Given the description of an element on the screen output the (x, y) to click on. 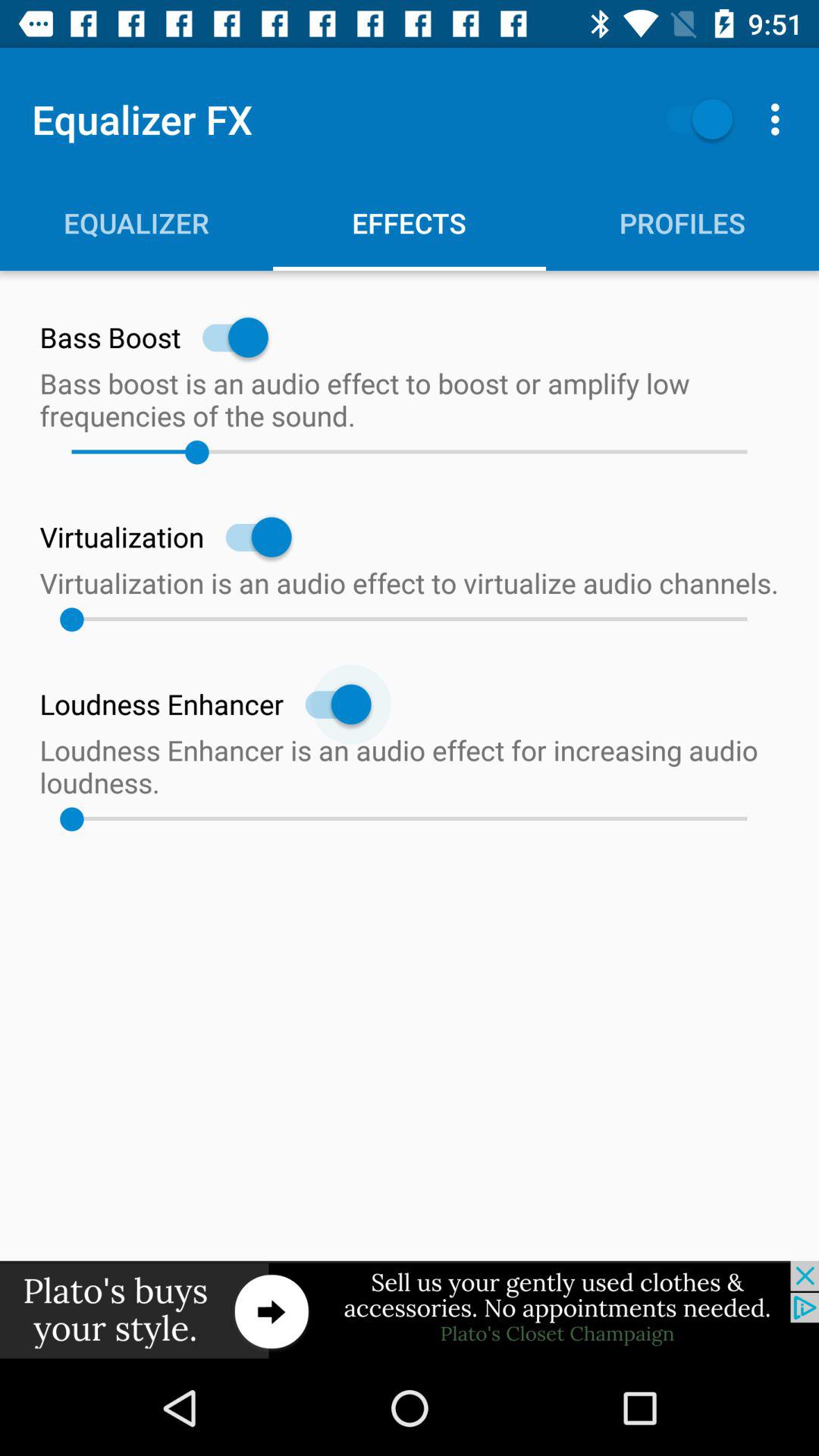
adds (409, 1310)
